Given the description of an element on the screen output the (x, y) to click on. 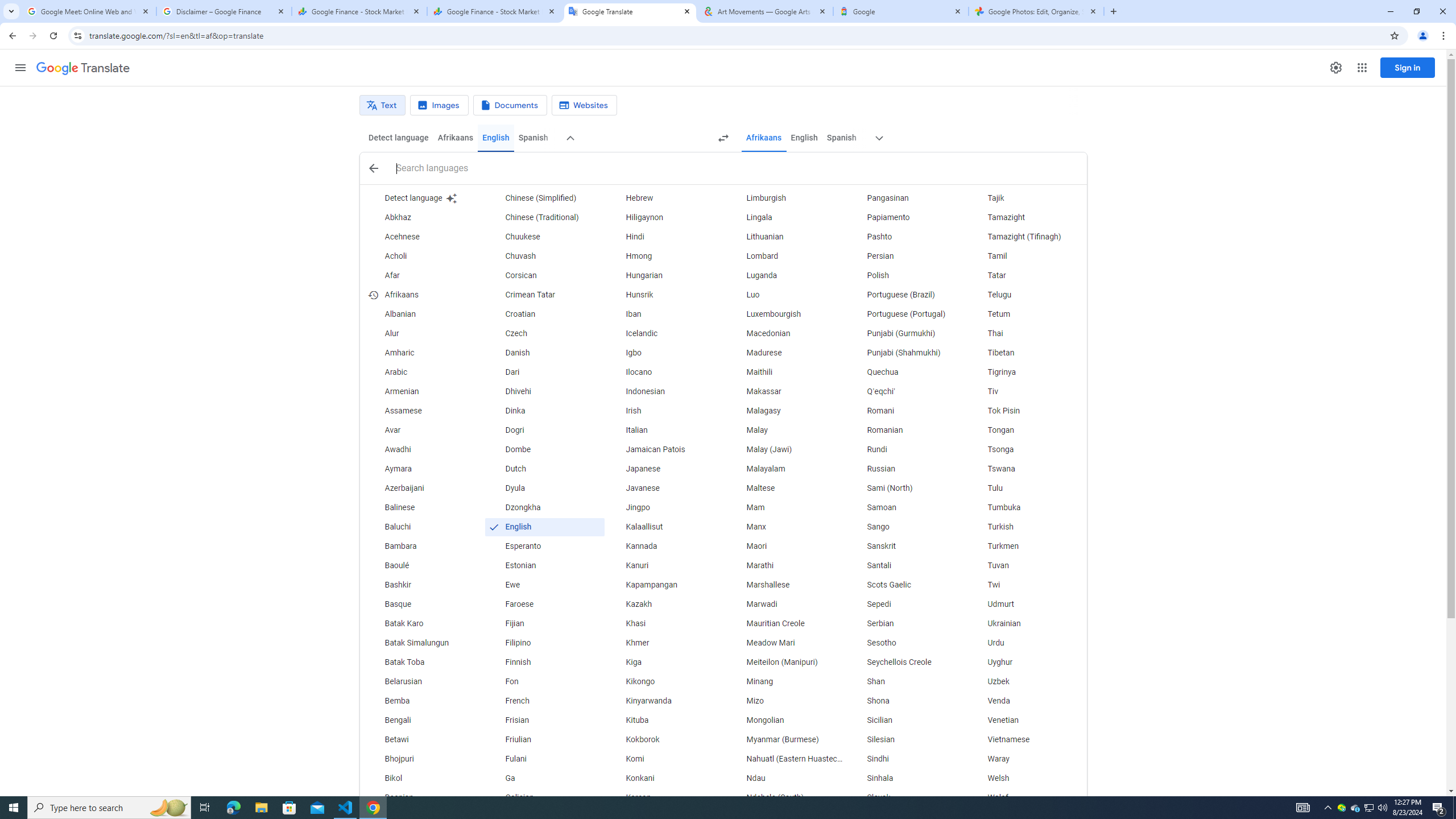
Venetian (1026, 720)
Hungarian (665, 275)
Waray (1026, 759)
Awadhi (423, 449)
Dombe (544, 449)
Google Translate (82, 68)
Kannada (665, 546)
Crimean Tatar (544, 294)
Malay (Jawi) (785, 449)
Khasi (665, 624)
Mauritian Creole (785, 624)
Armenian (423, 391)
Afrikaans (recently used language) (423, 294)
